Given the description of an element on the screen output the (x, y) to click on. 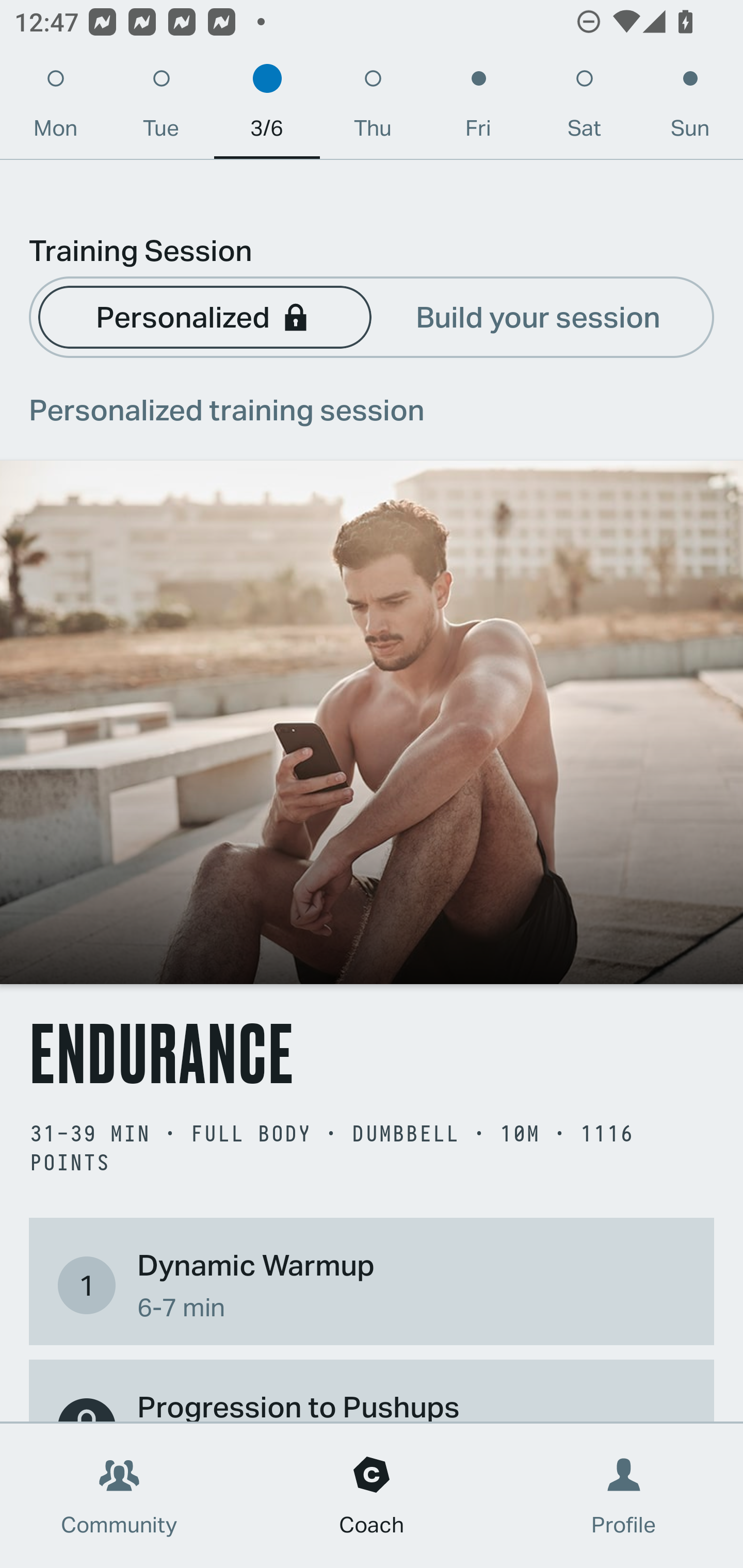
Mon (55, 108)
Tue (160, 108)
3/6 (266, 108)
Thu (372, 108)
Fri (478, 108)
Sat (584, 108)
Sun (690, 108)
Personalized (204, 315)
Build your session (538, 315)
1 Dynamic Warmup 6-7 min (371, 1284)
Community (119, 1495)
Profile (624, 1495)
